Given the description of an element on the screen output the (x, y) to click on. 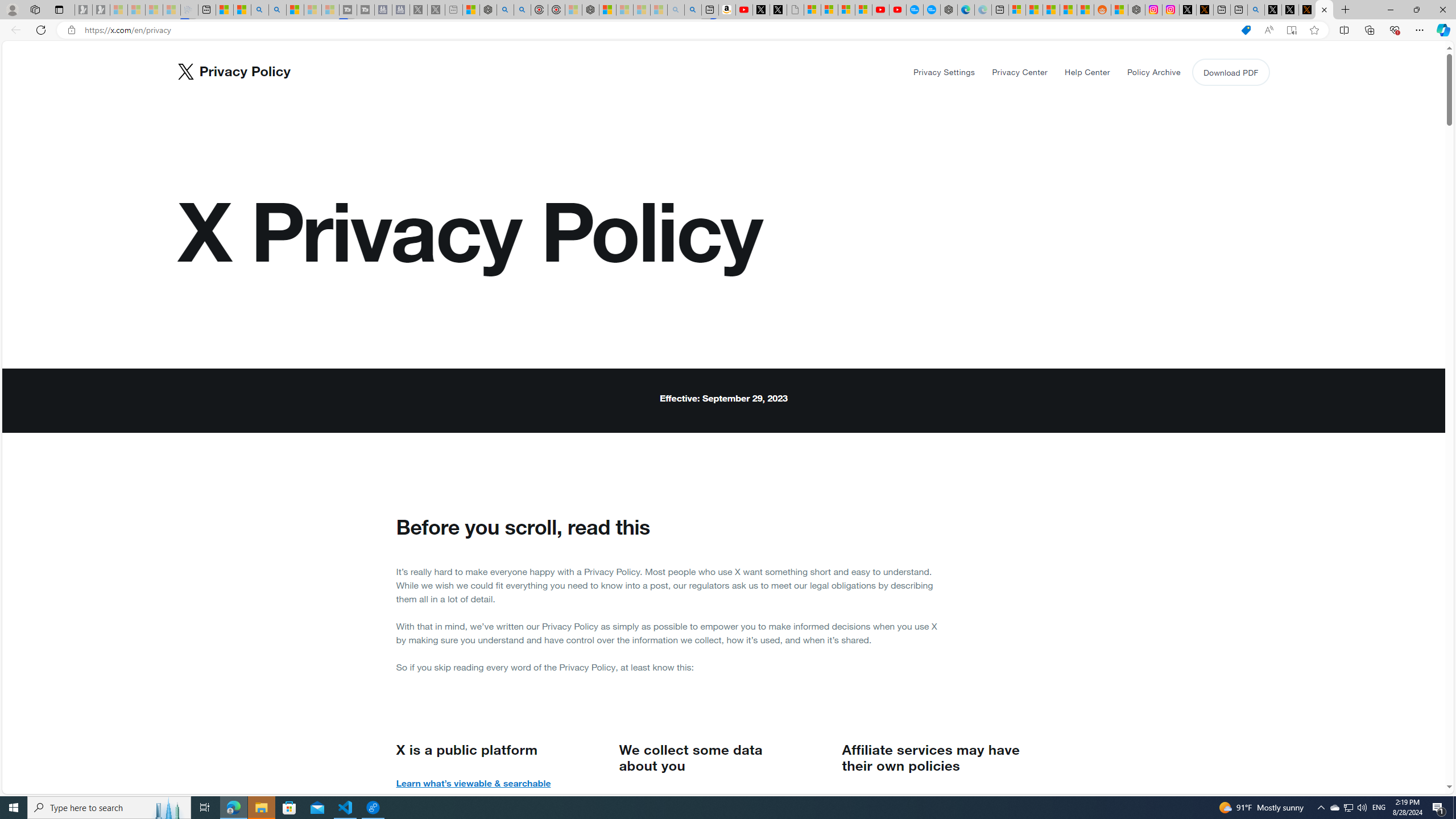
Collections (1369, 29)
Add this page to favorites (Ctrl+D) (1314, 29)
Nordace - Nordace Siena Is Not An Ordinary Backpack (590, 9)
Privacy Settings (944, 72)
App bar (728, 29)
X Privacy Policy (1324, 9)
github - Search (1256, 9)
help.x.com | 524: A timeout occurred (1204, 9)
Split screen (1344, 29)
Browser essentials (1394, 29)
YouTube Kids - An App Created for Kids to Explore Content (897, 9)
Privacy Settings (943, 71)
